Given the description of an element on the screen output the (x, y) to click on. 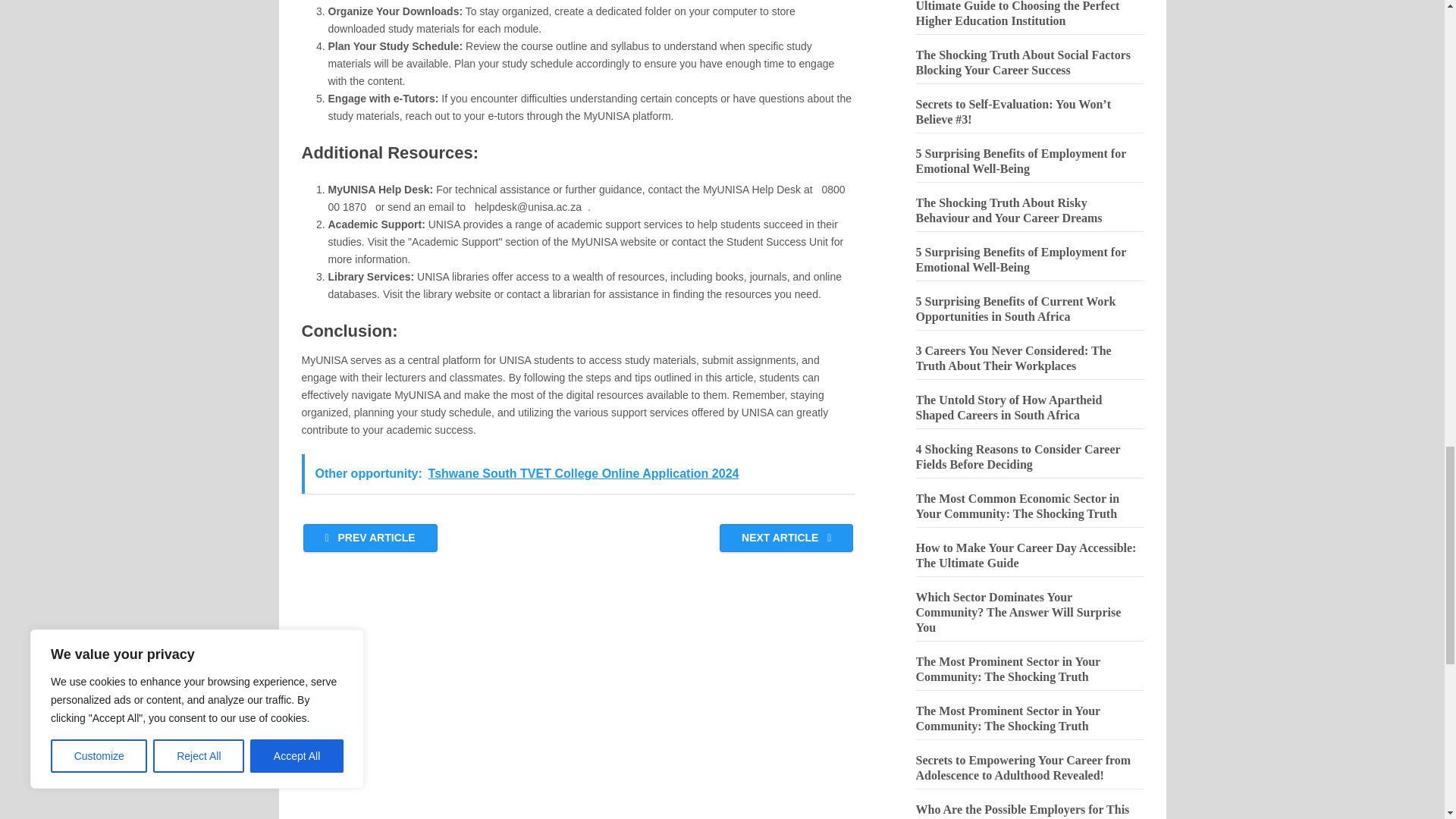
NEXT ARTICLE (786, 538)
PREV ARTICLE (370, 538)
